Given the description of an element on the screen output the (x, y) to click on. 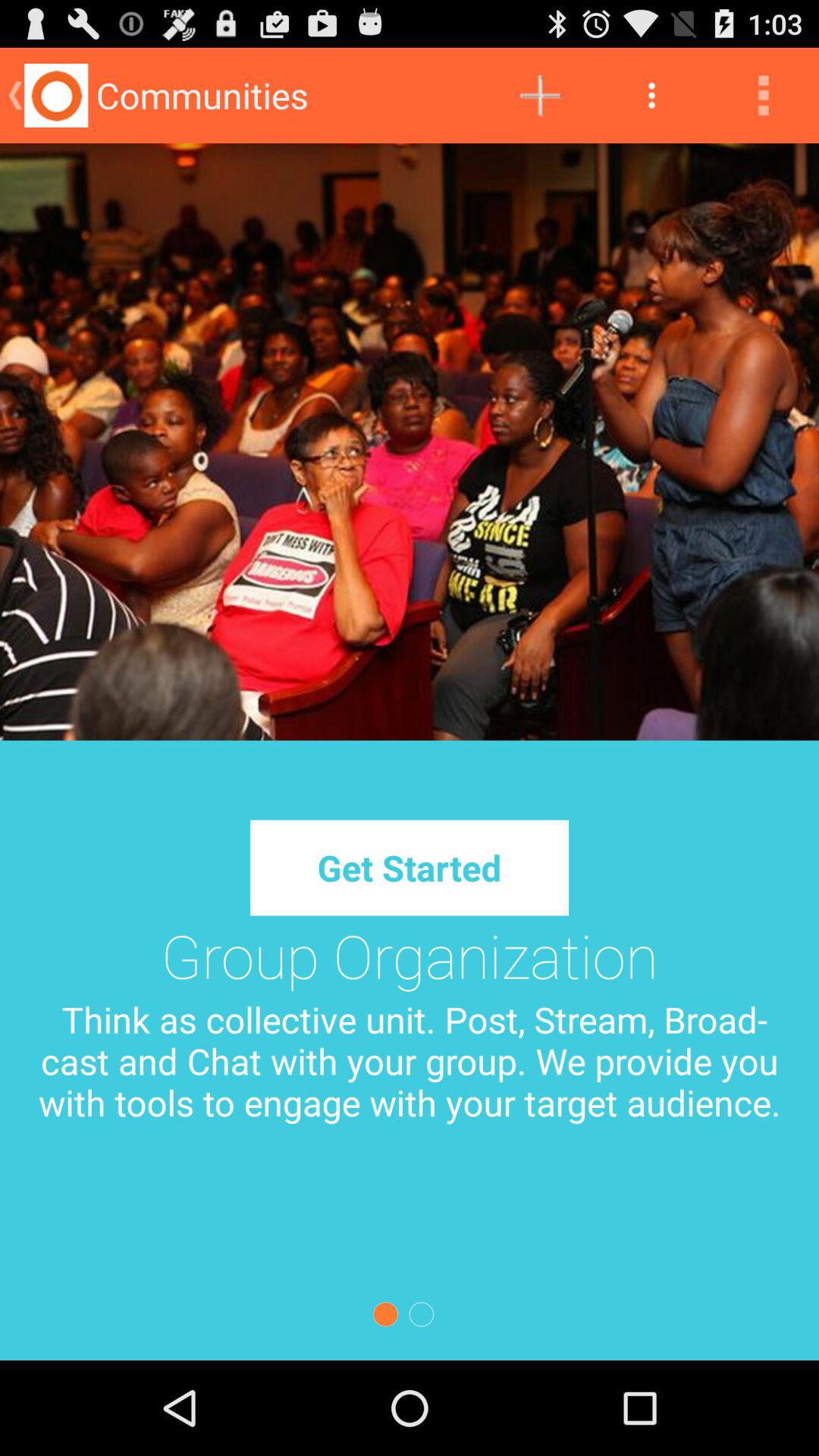
press icon next to communities (540, 95)
